Given the description of an element on the screen output the (x, y) to click on. 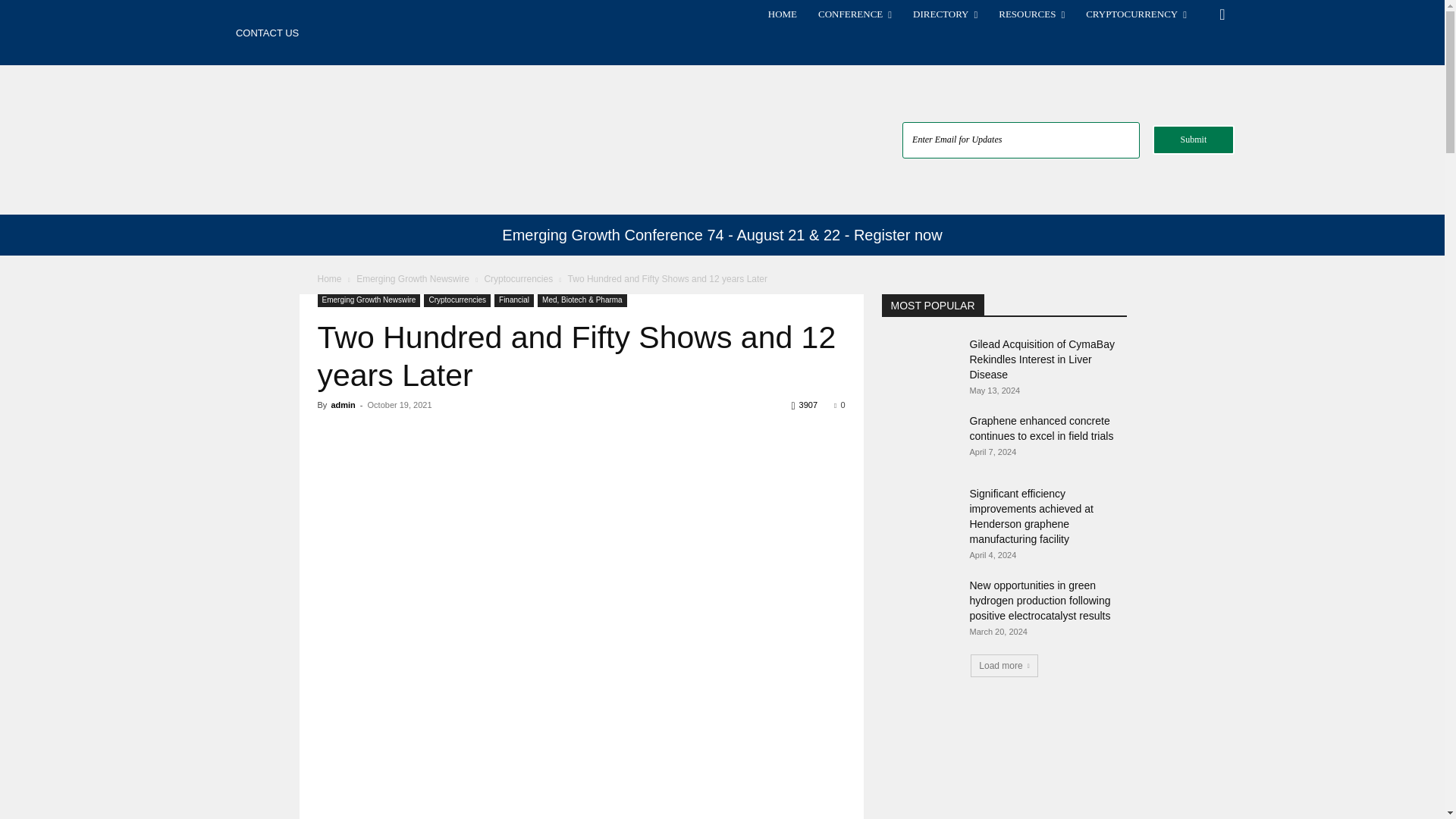
HOME (782, 14)
CONTACT US (267, 32)
Submit (1193, 139)
Contact Us (267, 32)
View all posts in Emerging Growth Newswire (412, 278)
